Given the description of an element on the screen output the (x, y) to click on. 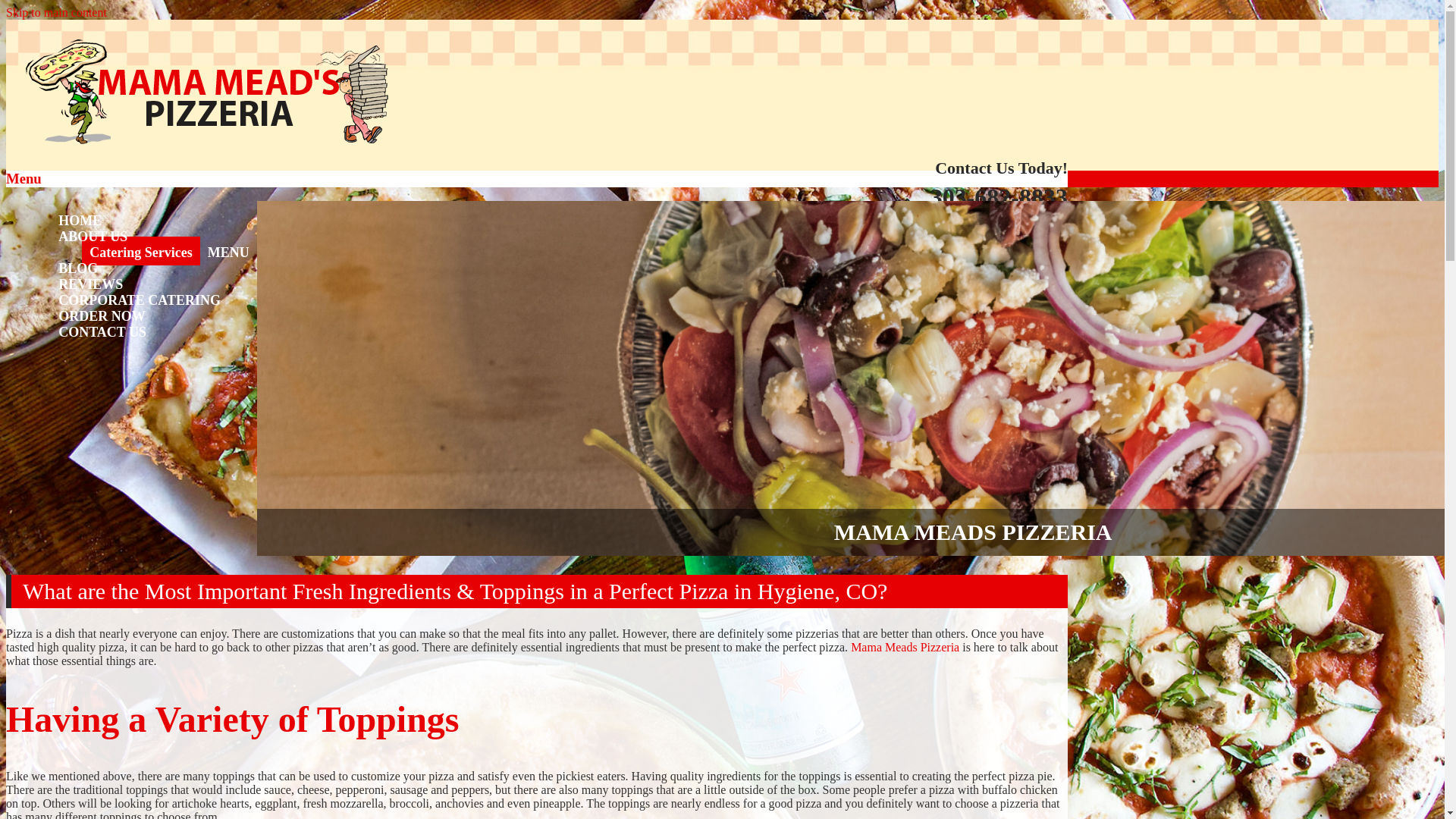
Mama Meads Pizzeria (139, 50)
CONTACT US (102, 330)
ABOUT US (92, 234)
REVIEWS (90, 282)
MENU (228, 250)
CORPORATE CATERING (139, 298)
ORDER NOW (101, 314)
Catering Services (140, 250)
BLOG (77, 266)
Mama Meads Pizzeria (904, 646)
Skip to main content (55, 11)
Skip to main content (55, 11)
HOME (79, 218)
Mama Meads Pizzeria (139, 50)
